Given the description of an element on the screen output the (x, y) to click on. 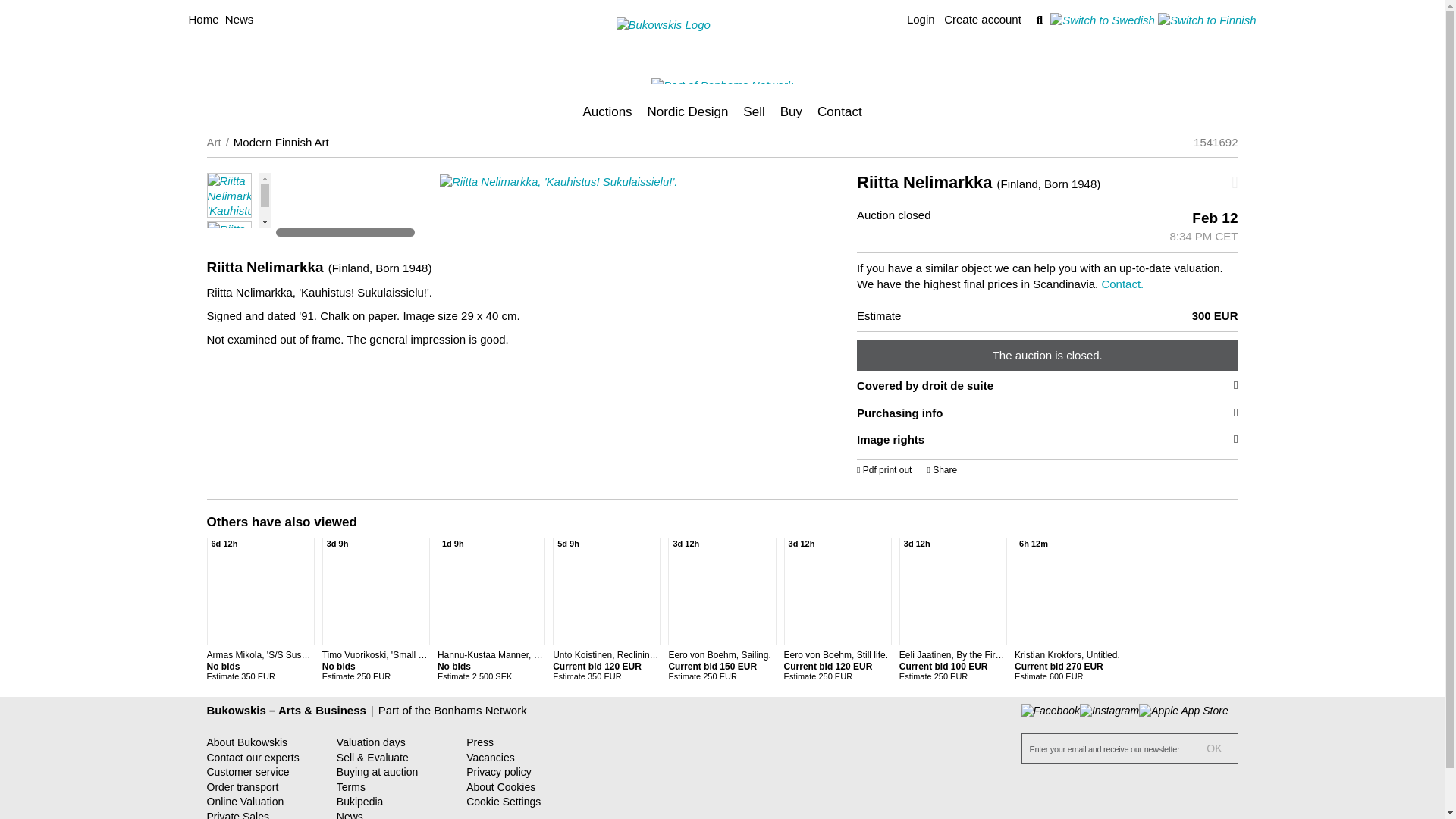
OK (1214, 747)
Add as favorite (1172, 182)
